Given the description of an element on the screen output the (x, y) to click on. 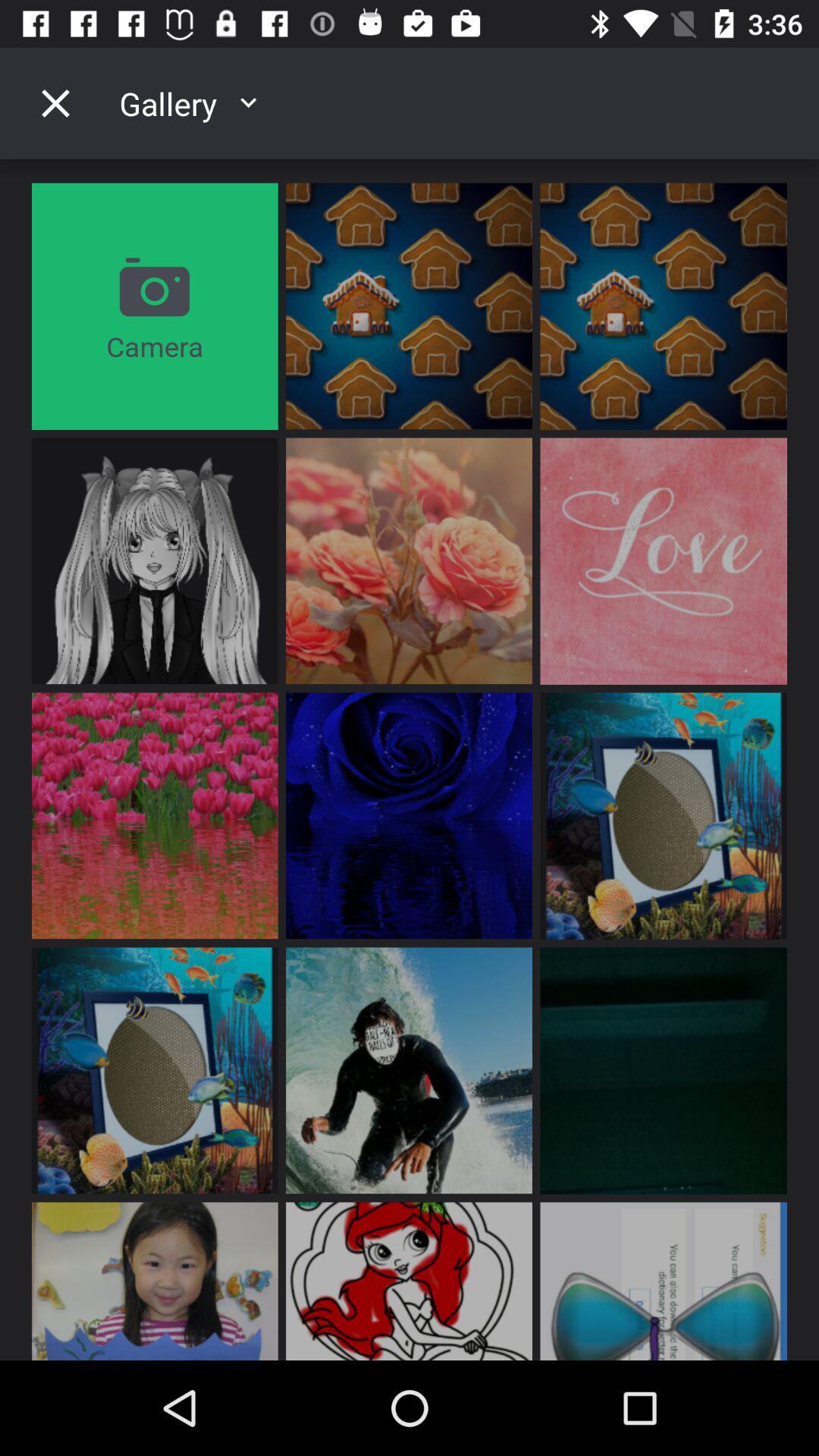
turn on the icon next to the gallery (55, 103)
